Given the description of an element on the screen output the (x, y) to click on. 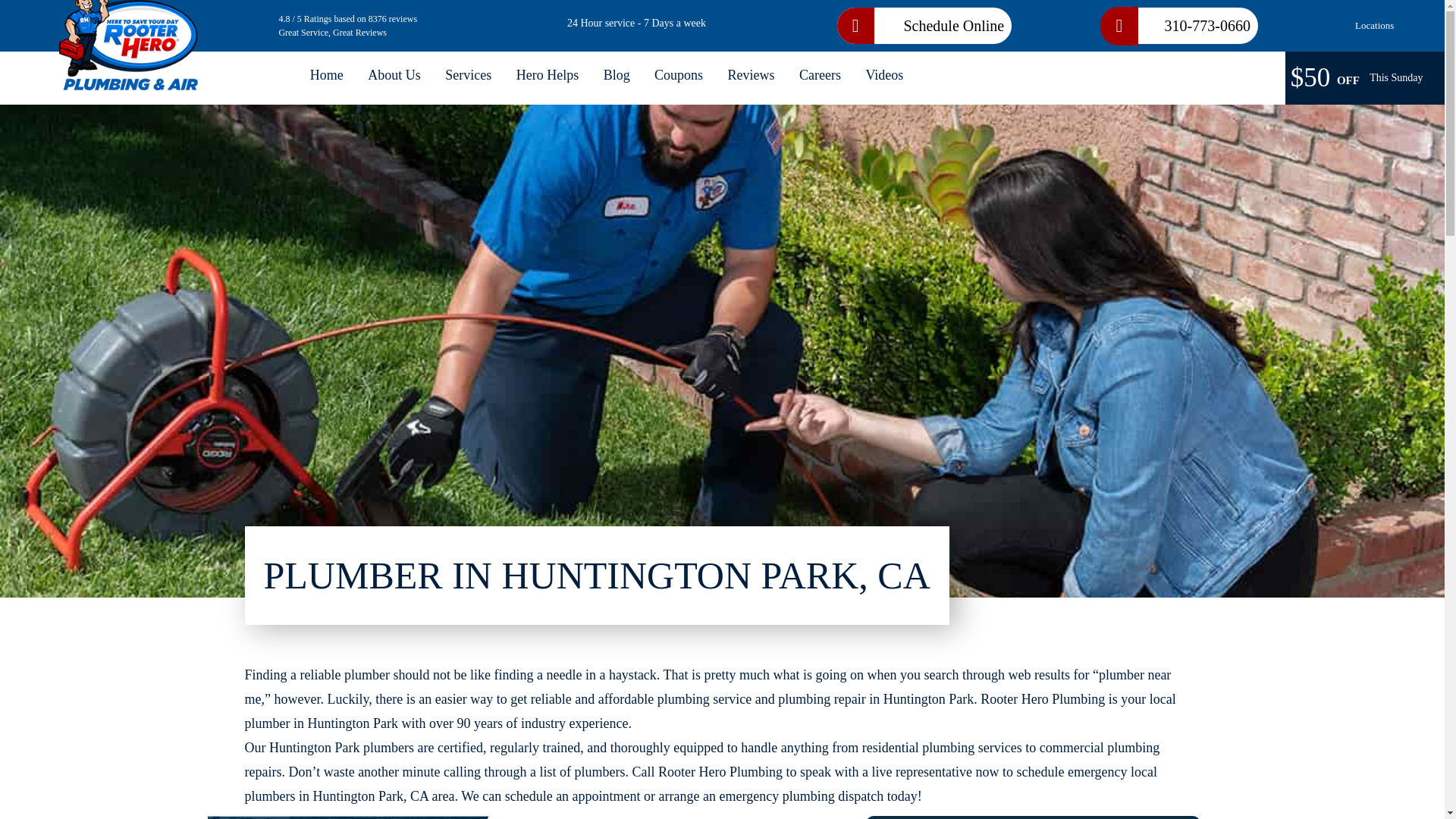
twit (1395, 382)
insta (1395, 294)
Plumber (326, 74)
f-book (1395, 426)
youtube (1395, 337)
Plumber (129, 38)
